Given the description of an element on the screen output the (x, y) to click on. 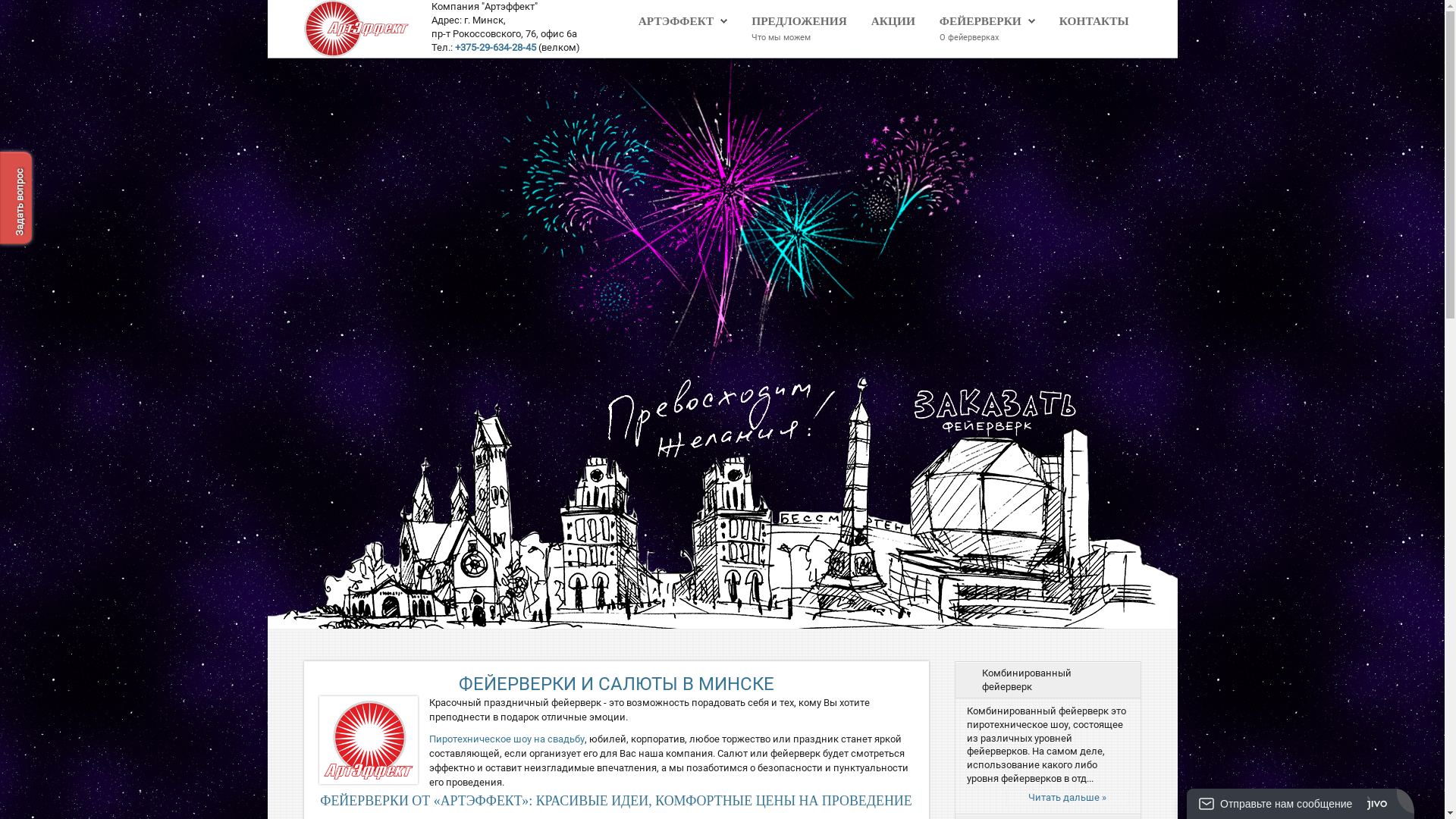
+375-29-634-28-45 Element type: text (495, 47)
